Given the description of an element on the screen output the (x, y) to click on. 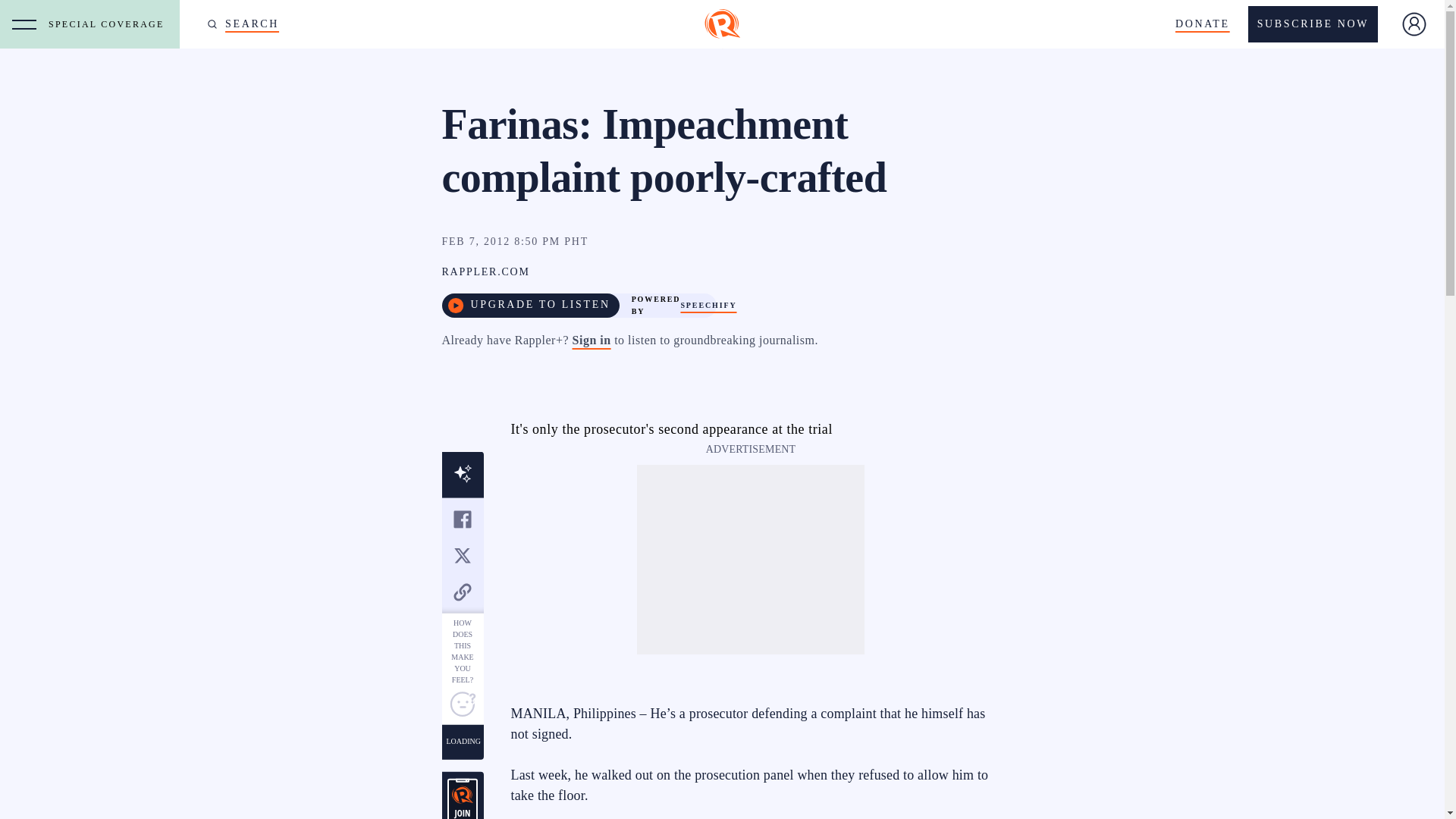
OPEN NAVIGATION (24, 24)
SPECIAL COVERAGE (109, 23)
